Given the description of an element on the screen output the (x, y) to click on. 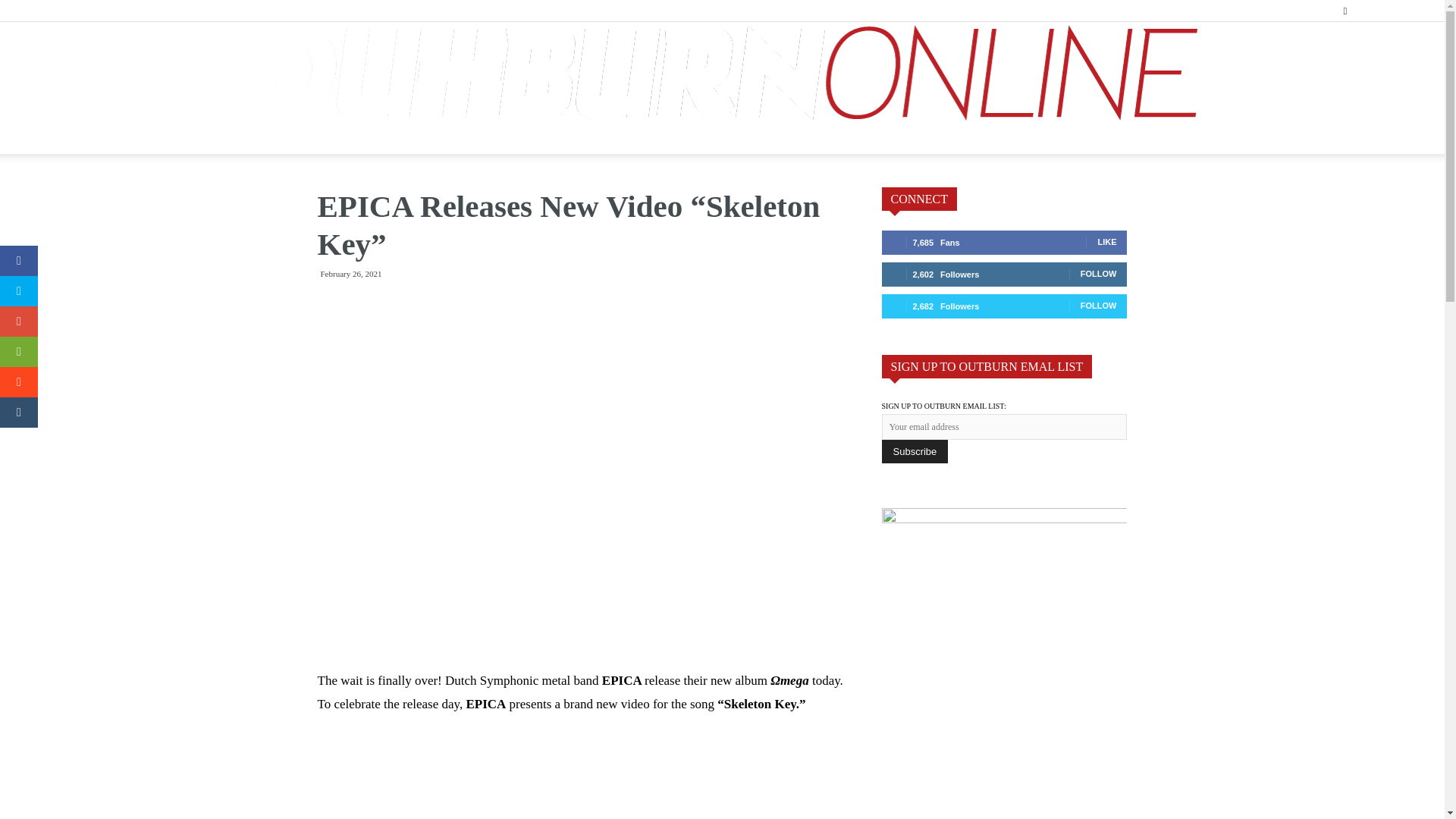
NEWS (378, 138)
Subscribe (913, 451)
Outburn Online (721, 72)
OUTBURN ONLINE (721, 72)
Facebook (1367, 10)
Instagram (1393, 10)
HOME (304, 138)
Twitter (1417, 10)
Search (1379, 64)
